Given the description of an element on the screen output the (x, y) to click on. 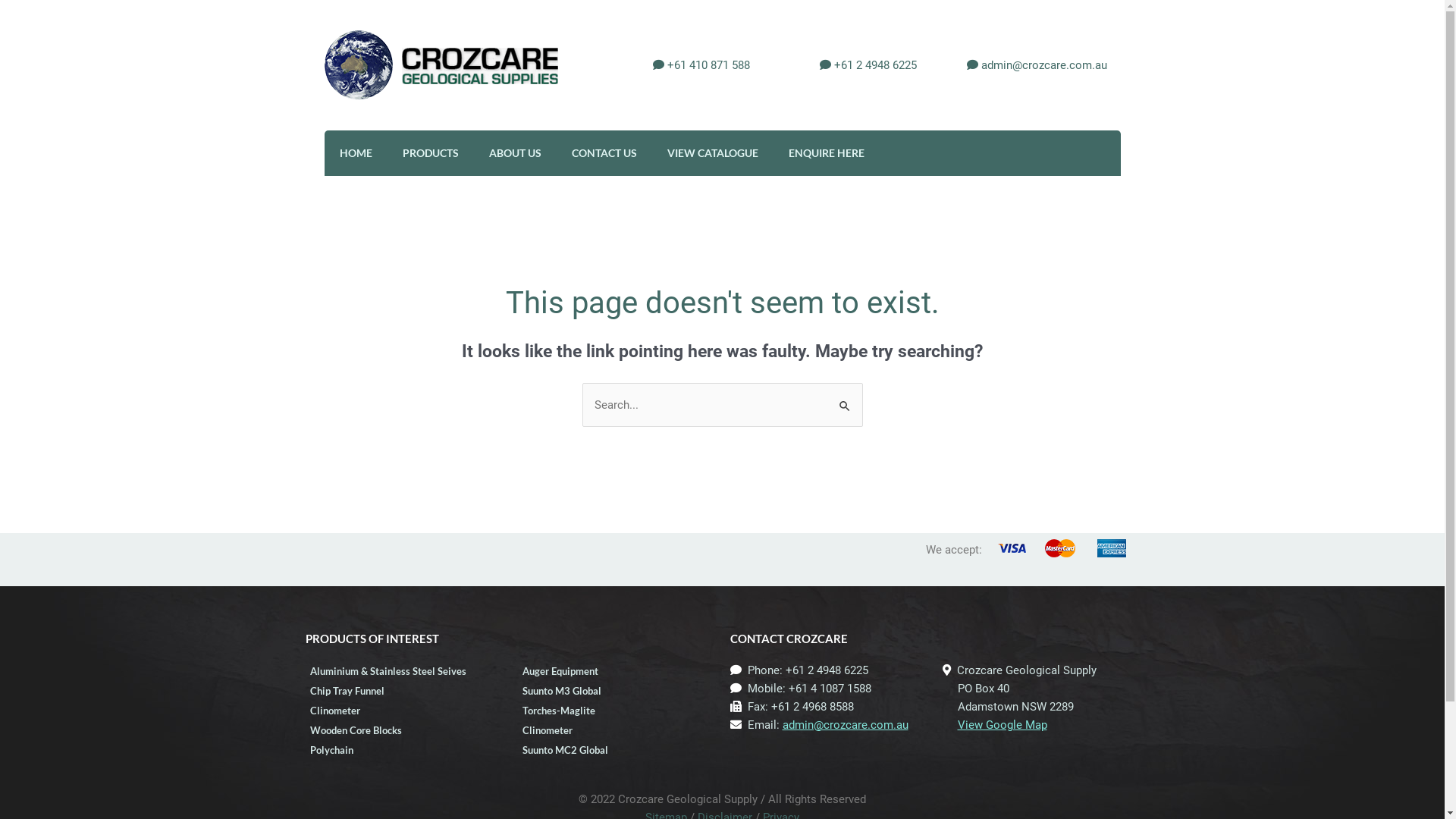
HOME Element type: text (355, 152)
Suunto M3 Global Element type: text (615, 690)
CONTACT US Element type: text (604, 152)
Clinometer Element type: text (403, 710)
Polychain Element type: text (403, 749)
Aluminium & Stainless Steel Seives Element type: text (403, 670)
Clinometer Element type: text (615, 730)
ABOUT US Element type: text (514, 152)
View Google Map Element type: text (1001, 724)
Suunto MC2 Global Element type: text (615, 749)
Search Element type: text (845, 398)
VIEW CATALOGUE Element type: text (712, 152)
Wooden Core Blocks Element type: text (403, 730)
ENQUIRE HERE Element type: text (826, 152)
admin@crozcare.com.au Element type: text (845, 724)
Chip Tray Funnel Element type: text (403, 690)
Auger Equipment Element type: text (615, 670)
PRODUCTS Element type: text (429, 152)
Torches-Maglite Element type: text (615, 710)
admin@crozcare.com.au Element type: text (1042, 65)
